Given the description of an element on the screen output the (x, y) to click on. 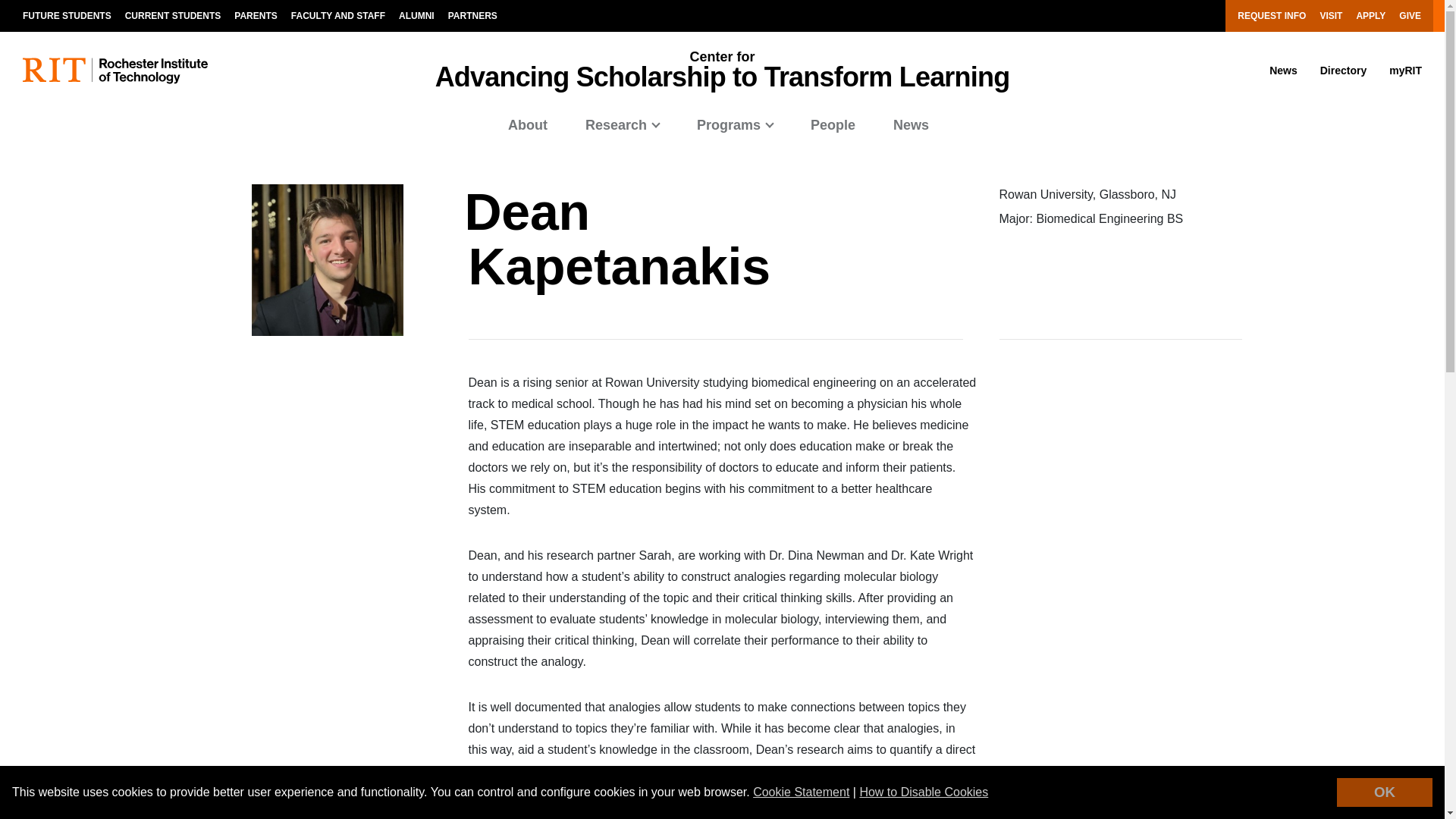
RIT logo and full name (115, 70)
